Given the description of an element on the screen output the (x, y) to click on. 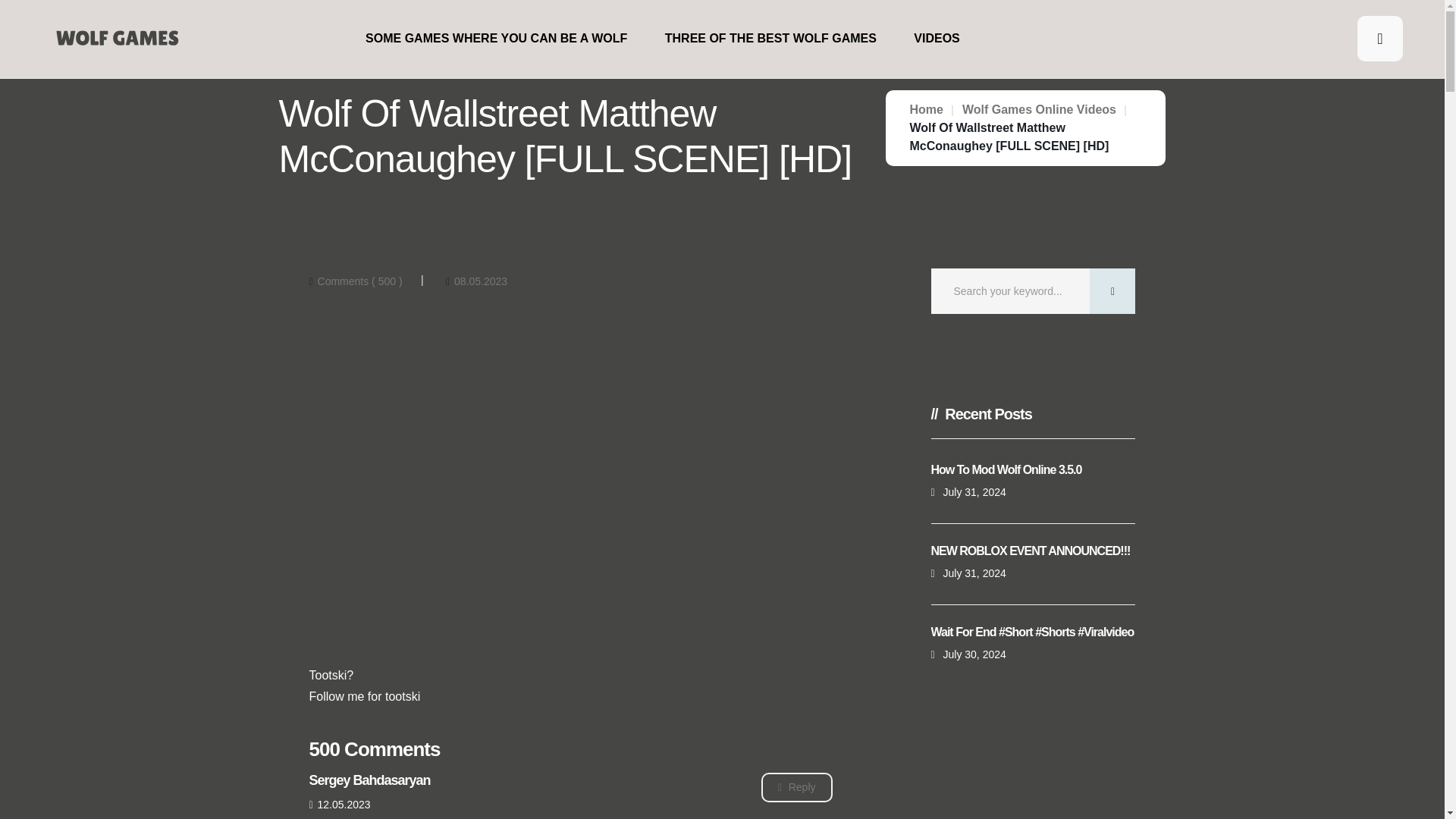
SOME GAMES WHERE YOU CAN BE A WOLF (496, 38)
Three of the best wolf games (770, 38)
THREE OF THE BEST WOLF GAMES (770, 38)
Videos (936, 38)
Wolf Games Online Videos (1039, 109)
Some games where you can be a wolf (496, 38)
VIDEOS (936, 38)
Home (926, 109)
Reply (796, 787)
